Given the description of an element on the screen output the (x, y) to click on. 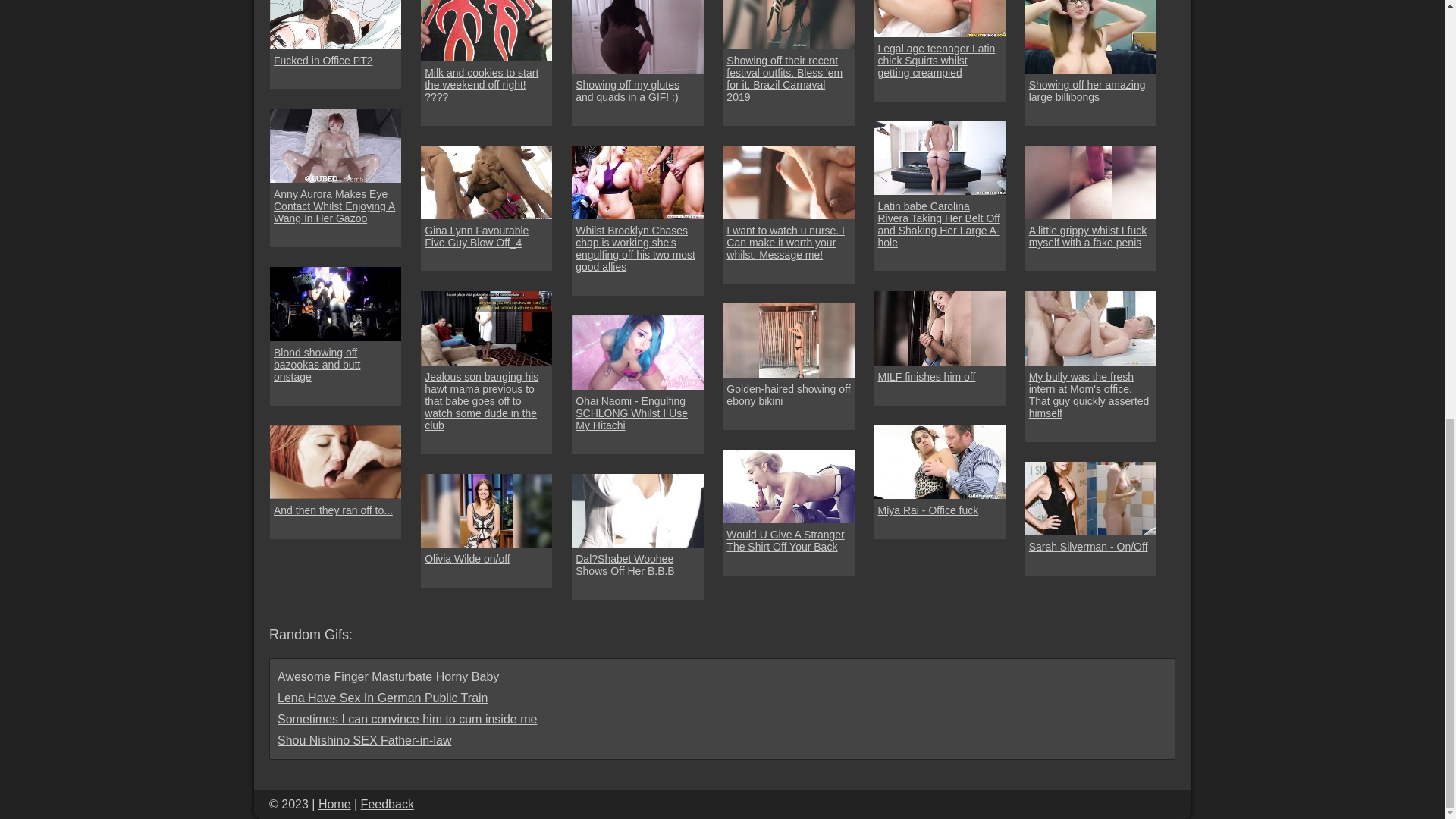
Milk and cookies to start the weekend off right! ???? (486, 84)
Showing off her amazing large billibongs (1091, 90)
Fucked in Office PT2 (322, 60)
